Given the description of an element on the screen output the (x, y) to click on. 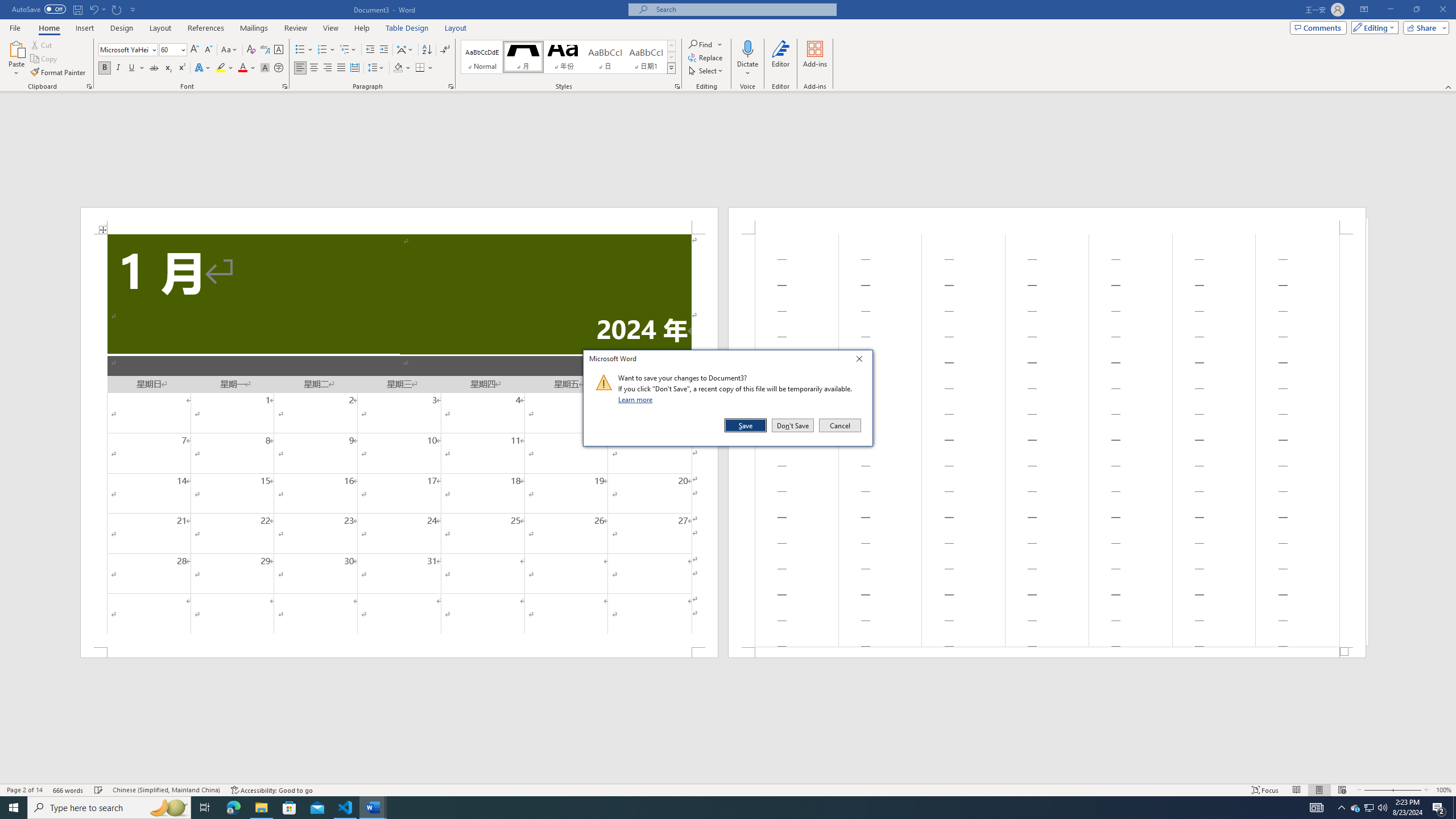
File Explorer - 1 running window (261, 807)
